Given the description of an element on the screen output the (x, y) to click on. 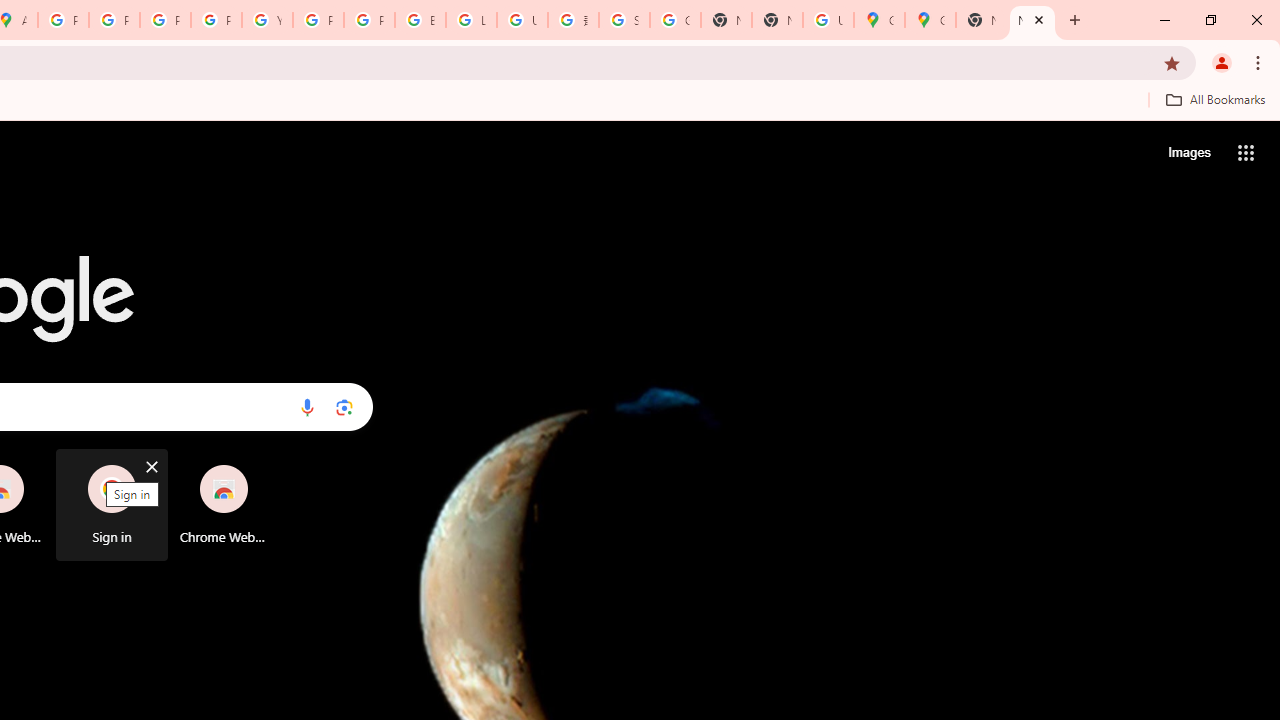
Policy Accountability and Transparency - Transparency Center (63, 20)
Remove (263, 466)
Sign in - Google Accounts (624, 20)
New Tab (1032, 20)
